Given the description of an element on the screen output the (x, y) to click on. 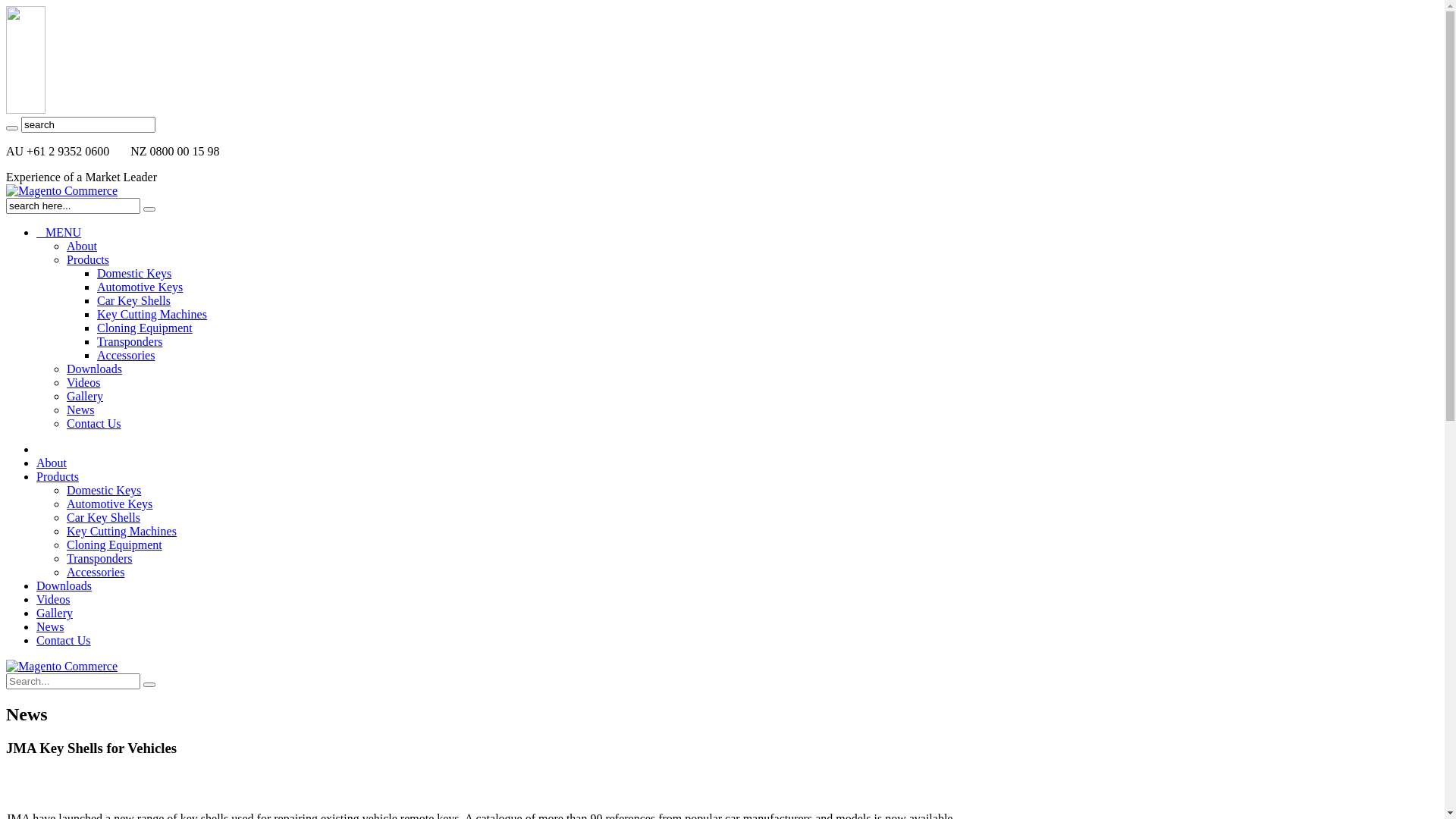
Accessories Element type: text (95, 571)
About Element type: text (51, 462)
   MENU Element type: text (58, 231)
Cloning Equipment Element type: text (144, 327)
Automotive Keys Element type: text (139, 286)
Transponders Element type: text (99, 558)
Key Cutting Machines Element type: text (152, 313)
News Element type: text (80, 409)
Products Element type: text (57, 476)
Contact Us Element type: text (63, 639)
Domestic Keys Element type: text (103, 489)
Transponders Element type: text (130, 341)
Car Key Shells Element type: text (103, 517)
Key Cutting Machines Element type: text (121, 530)
Videos Element type: text (83, 382)
Downloads Element type: text (94, 368)
Cloning Equipment Element type: text (114, 544)
Domestic Keys Element type: text (134, 272)
Products Element type: text (87, 259)
Accessories Element type: text (125, 354)
Gallery Element type: text (54, 612)
Contact Us Element type: text (93, 423)
Videos Element type: text (52, 599)
Downloads Element type: text (63, 585)
News Element type: text (49, 626)
Car Key Shells Element type: text (133, 300)
Automotive Keys Element type: text (109, 503)
About Element type: text (81, 245)
Gallery Element type: text (84, 395)
